Given the description of an element on the screen output the (x, y) to click on. 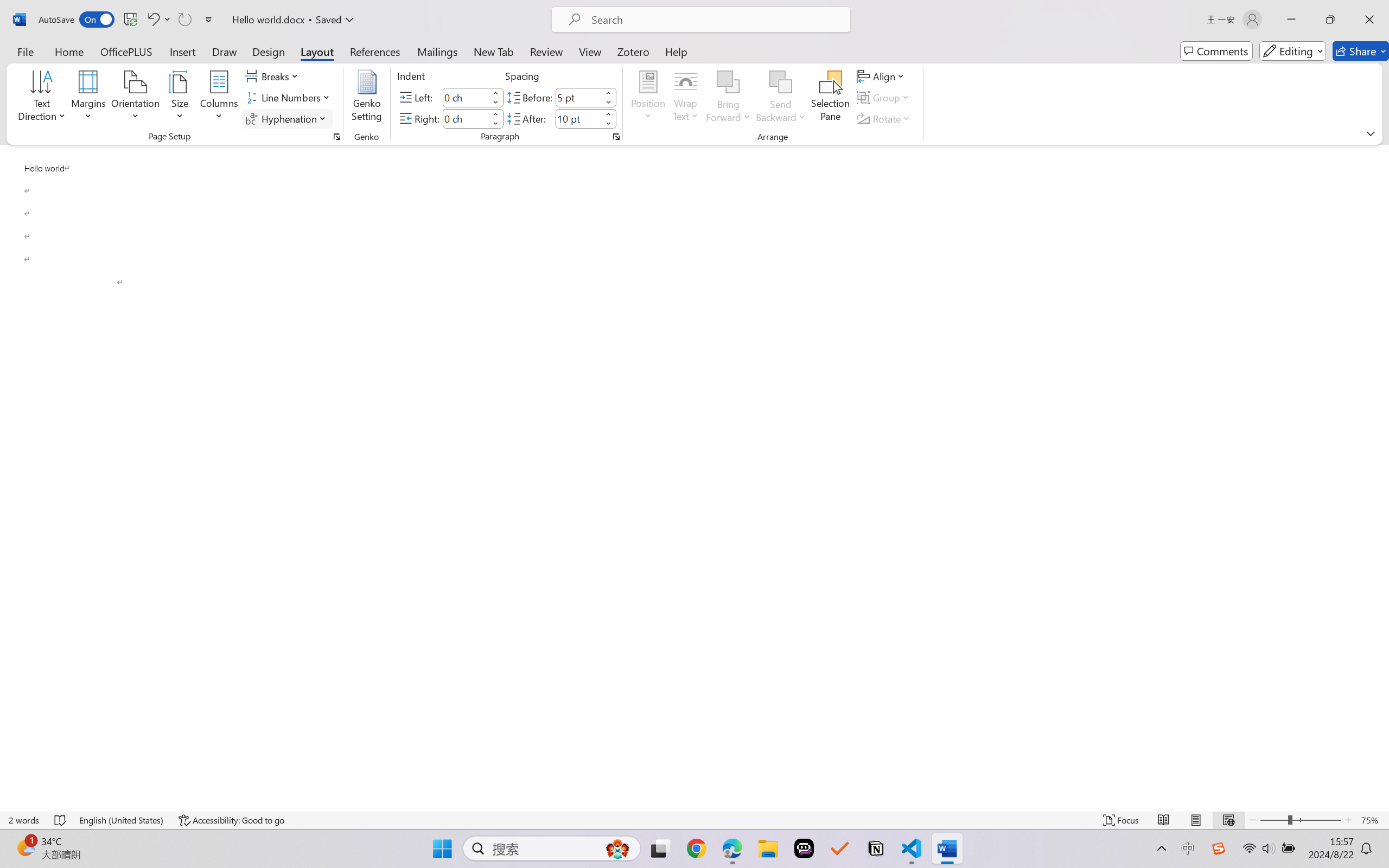
Send Backward (781, 81)
AutoSave (76, 19)
Zotero (632, 51)
Print Layout (1196, 819)
More (608, 113)
Share (1360, 51)
Zoom Out (1273, 819)
Comments (1216, 50)
Group (884, 97)
Selection Pane... (830, 97)
Undo Apply Quick Style Set (152, 19)
Ribbon Display Options (1370, 132)
Insert (182, 51)
